Given the description of an element on the screen output the (x, y) to click on. 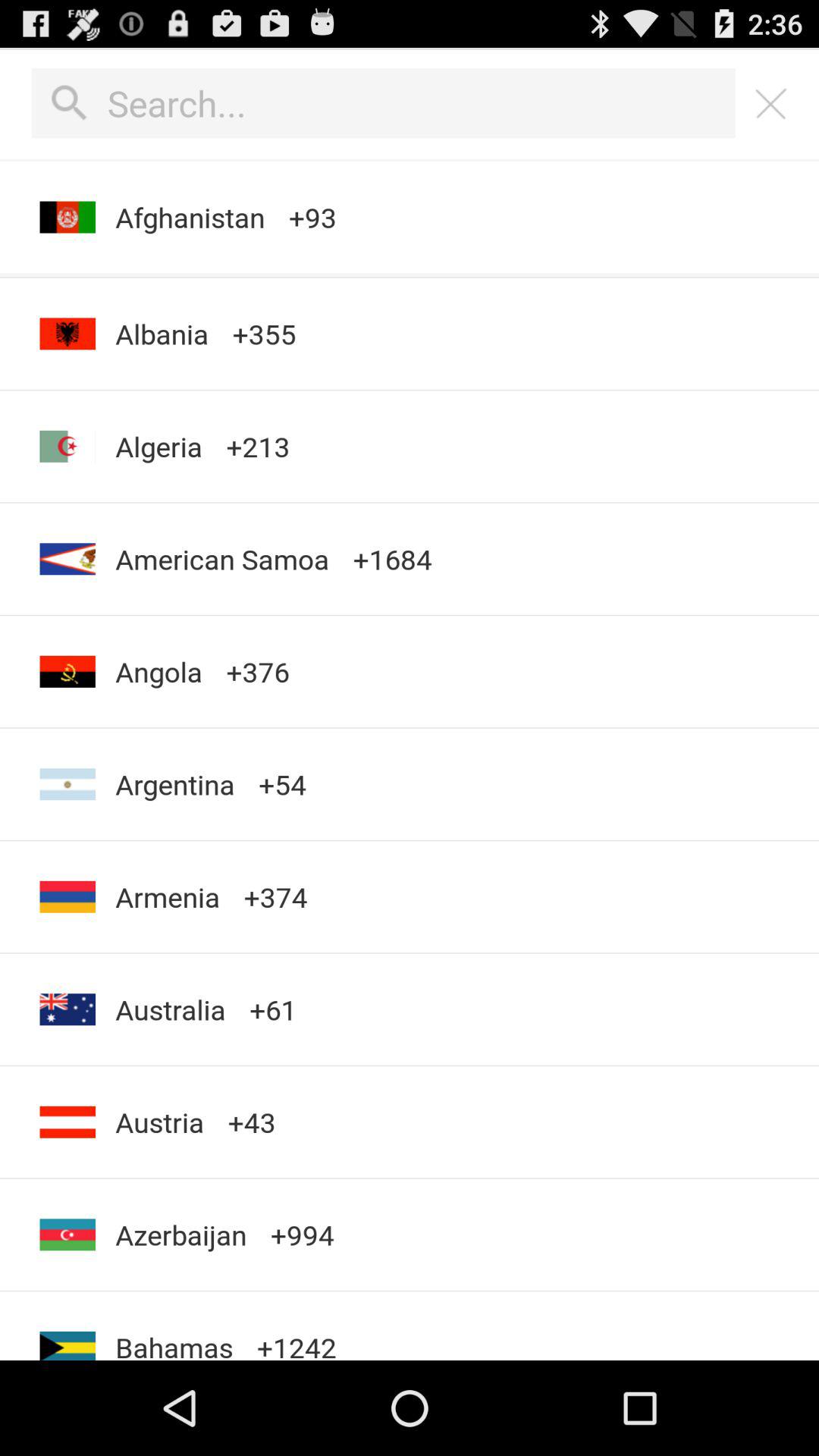
turn off the icon next to argentina item (275, 896)
